Given the description of an element on the screen output the (x, y) to click on. 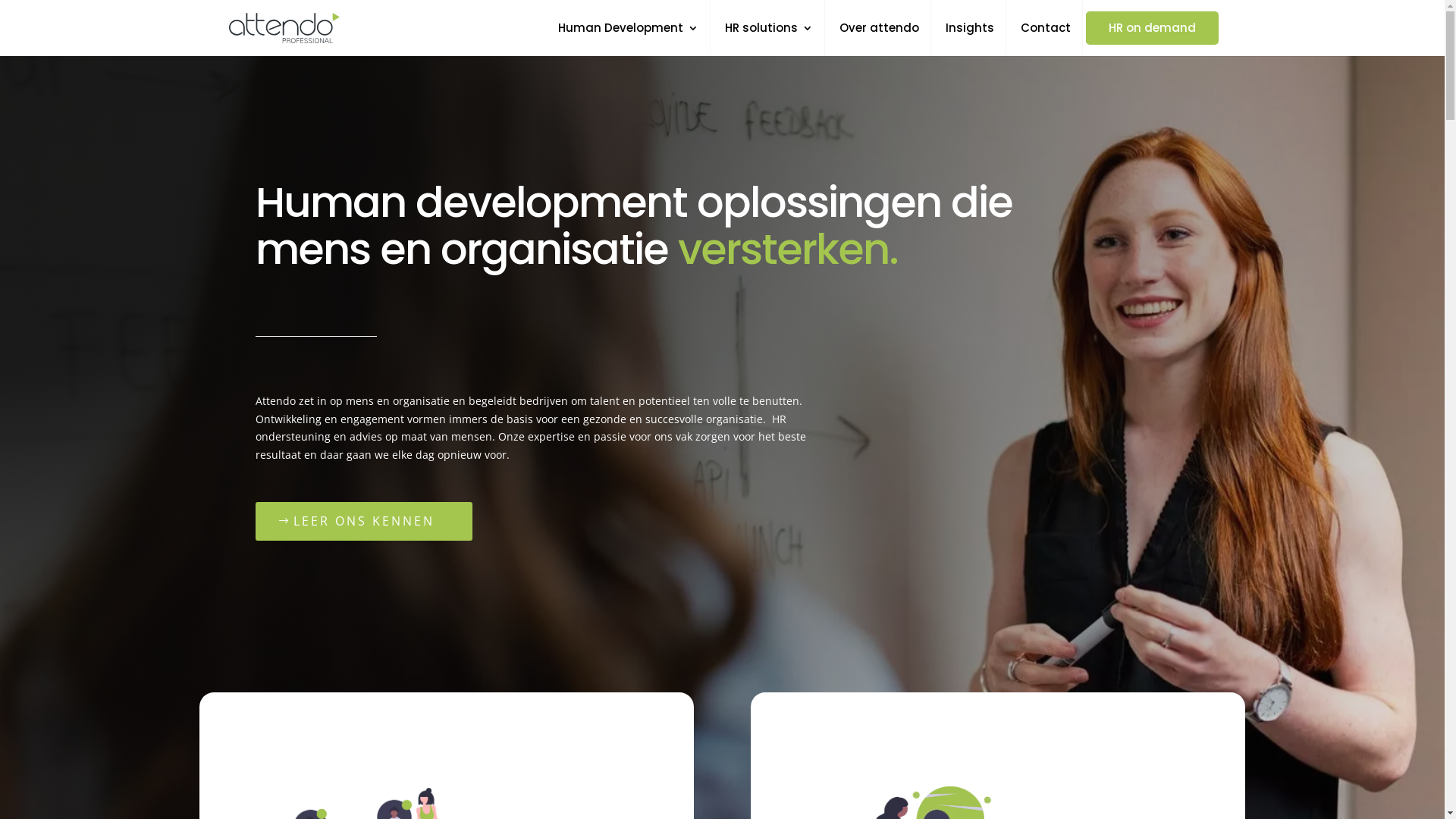
Contact Element type: text (1045, 39)
Human Development Element type: text (628, 39)
HR solutions Element type: text (768, 39)
Over attendo Element type: text (879, 39)
LEER ONS KENNEN Element type: text (363, 521)
Insights Element type: text (969, 39)
HR on demand Element type: text (1151, 27)
